Given the description of an element on the screen output the (x, y) to click on. 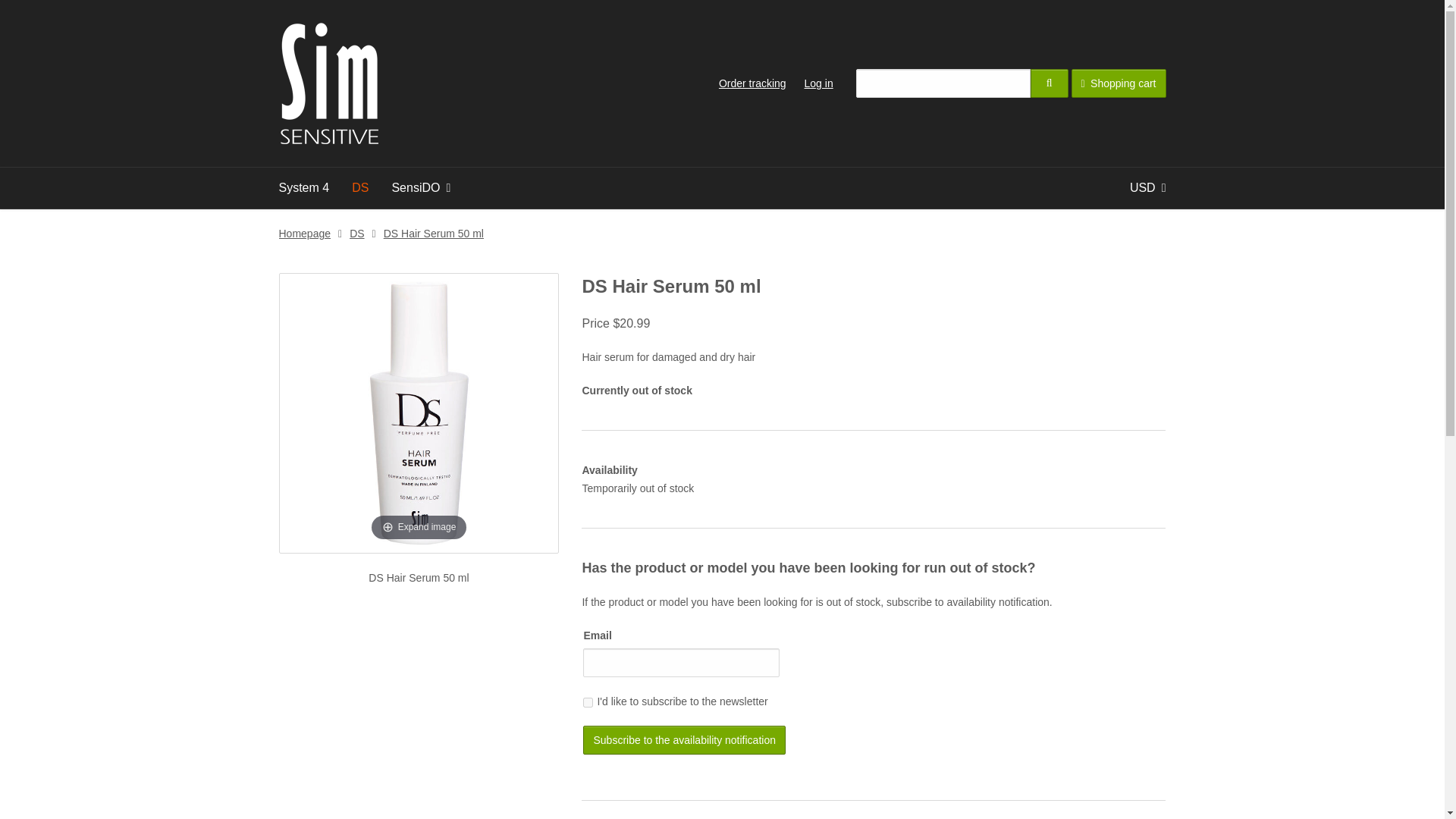
on (587, 702)
Order tracking (752, 82)
Shopping cart (1118, 82)
System 4 (303, 187)
DS (360, 187)
System 4 (303, 187)
SensiDO (420, 187)
Search (1049, 82)
DS Hair Serum 50 ml (433, 233)
DS (356, 233)
Log in (818, 82)
USD (1147, 187)
SensiDO (420, 187)
DS (360, 187)
